Given the description of an element on the screen output the (x, y) to click on. 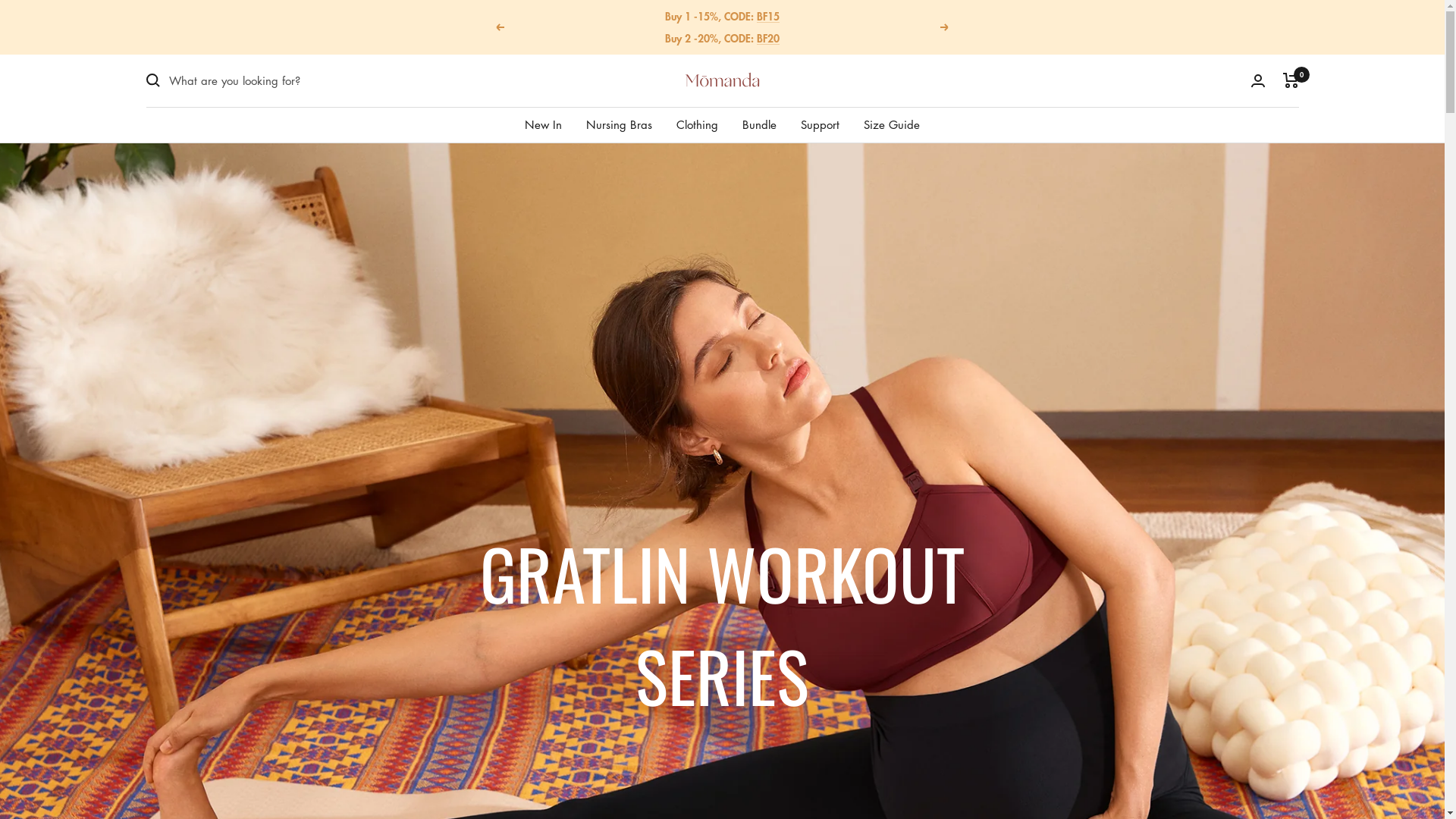
Nursing Bras Element type: text (619, 123)
Size Guide Element type: text (891, 123)
Next Element type: text (944, 26)
Bundle Element type: text (759, 123)
Support Element type: text (819, 123)
Previous Element type: text (499, 26)
Momanda.us Element type: text (722, 79)
0 Element type: text (1291, 79)
Clothing Element type: text (697, 123)
New In Element type: text (542, 123)
